Given the description of an element on the screen output the (x, y) to click on. 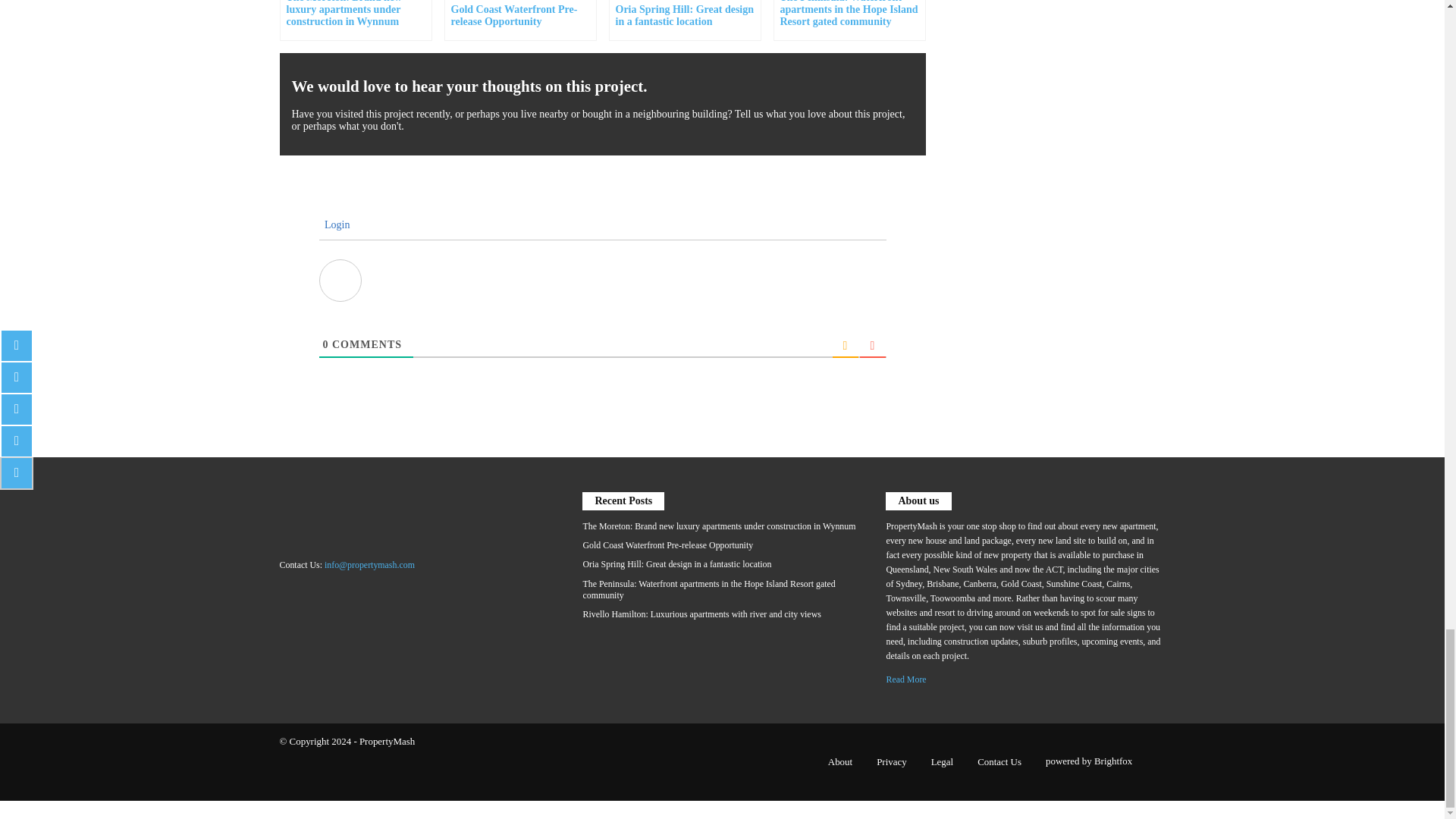
Login (334, 224)
Oria Spring Hill: Great design in a fantastic location (684, 20)
Gold Coast Waterfront Pre-release Opportunity (520, 20)
